Given the description of an element on the screen output the (x, y) to click on. 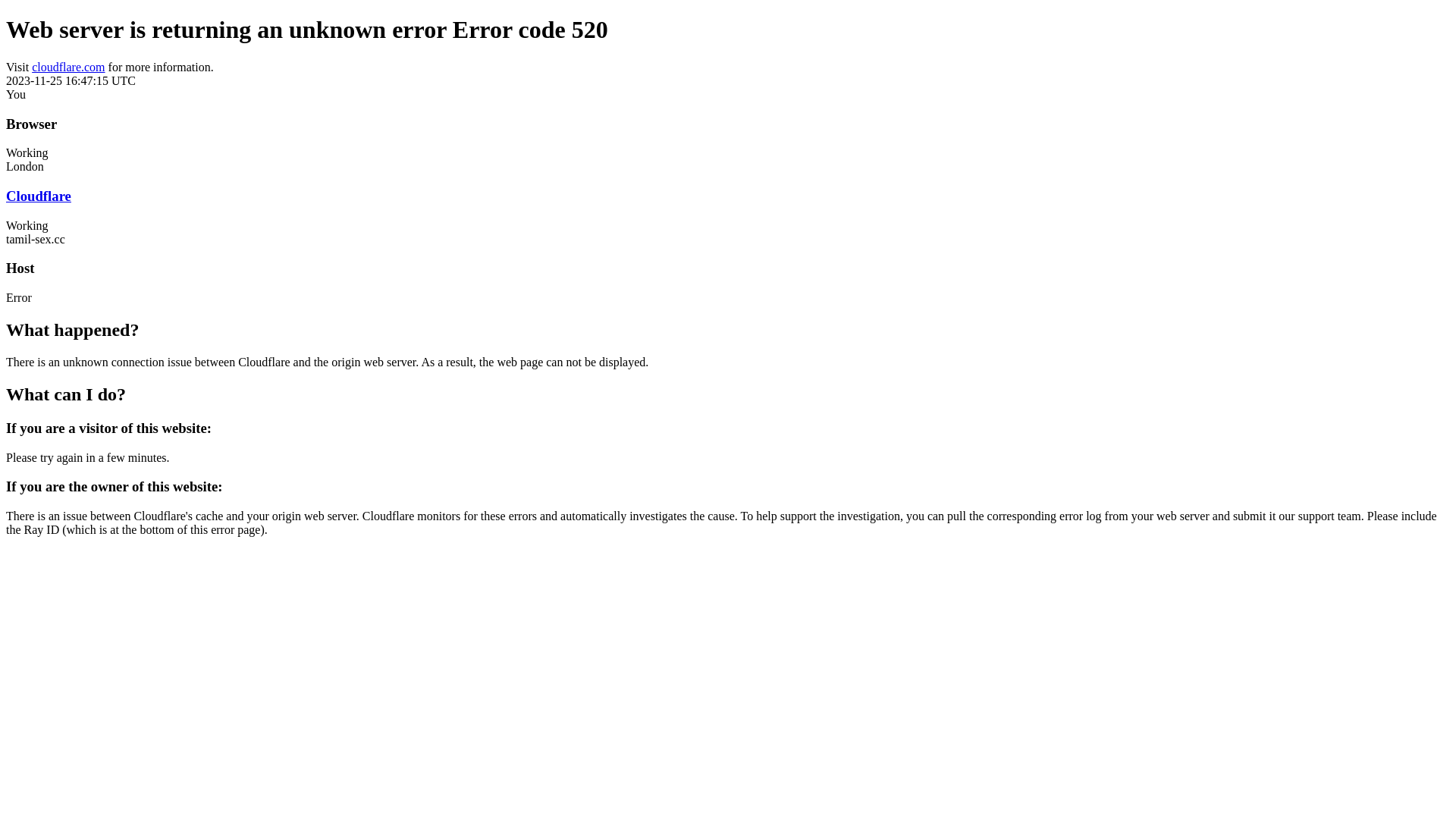
cloudflare.com Element type: text (67, 66)
Cloudflare Element type: text (38, 195)
